Given the description of an element on the screen output the (x, y) to click on. 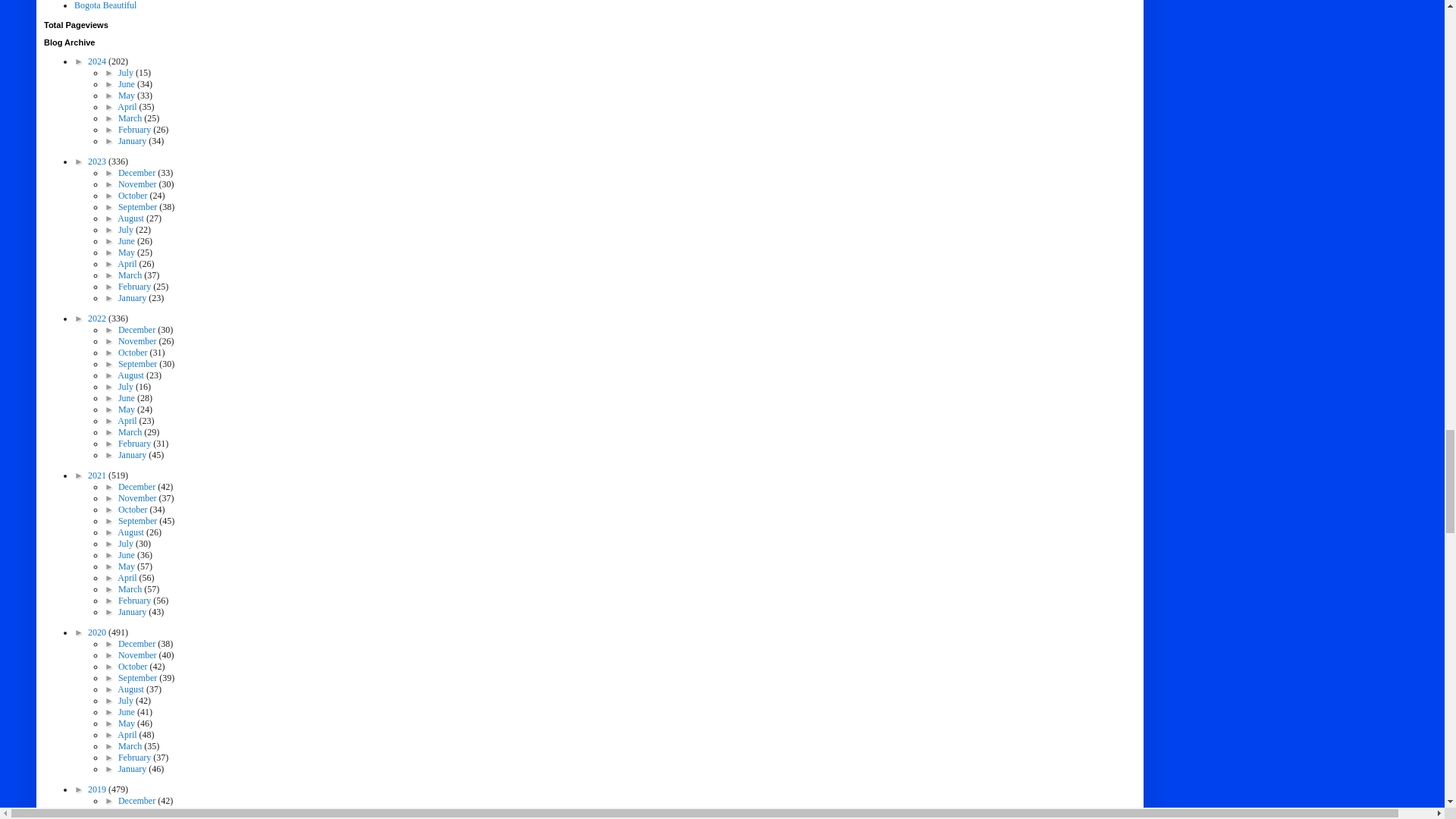
June (126, 83)
2024 (97, 61)
July (126, 72)
Bogota Beautiful (105, 5)
